Given the description of an element on the screen output the (x, y) to click on. 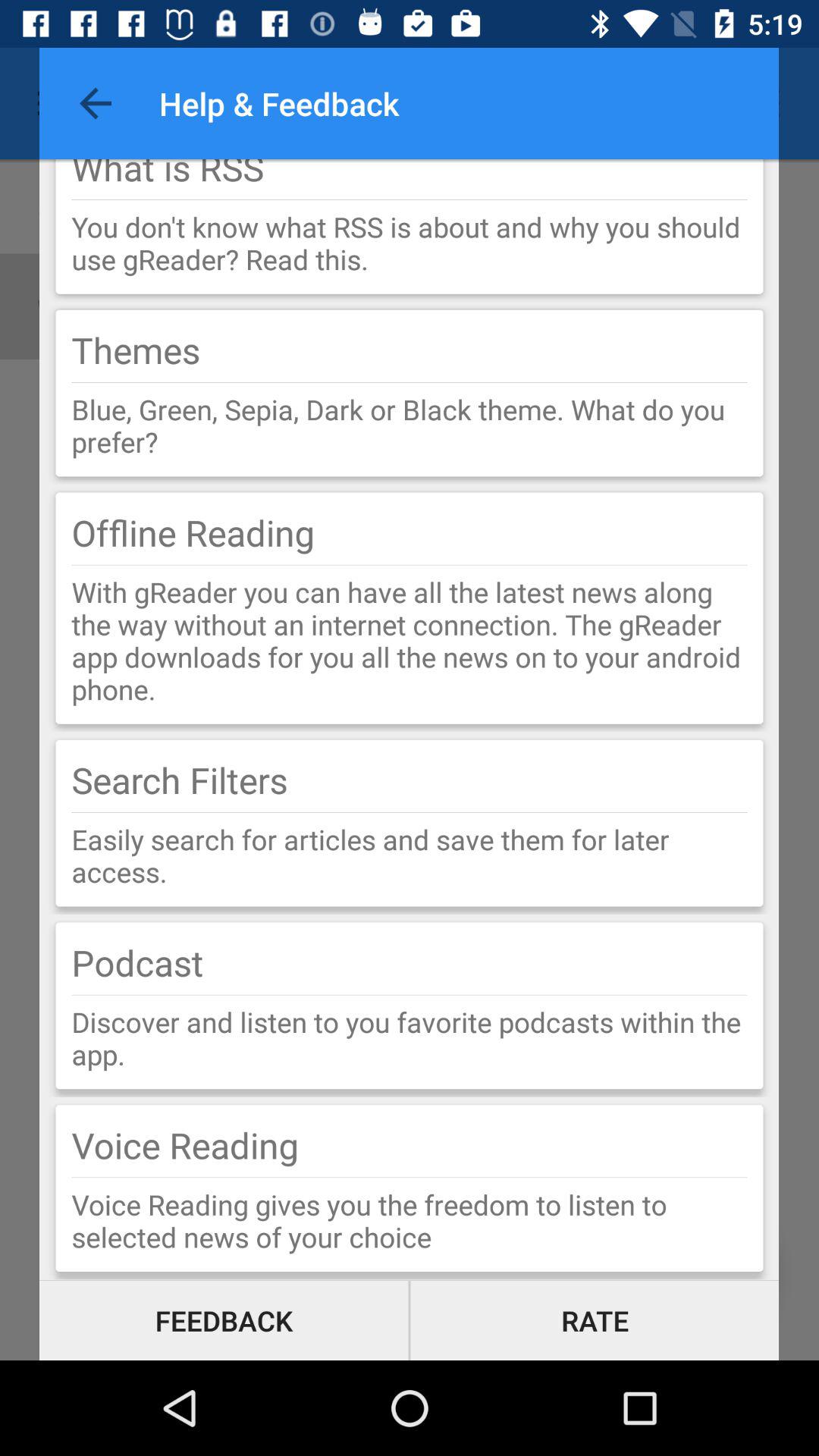
select icon below voice reading gives (594, 1320)
